Given the description of an element on the screen output the (x, y) to click on. 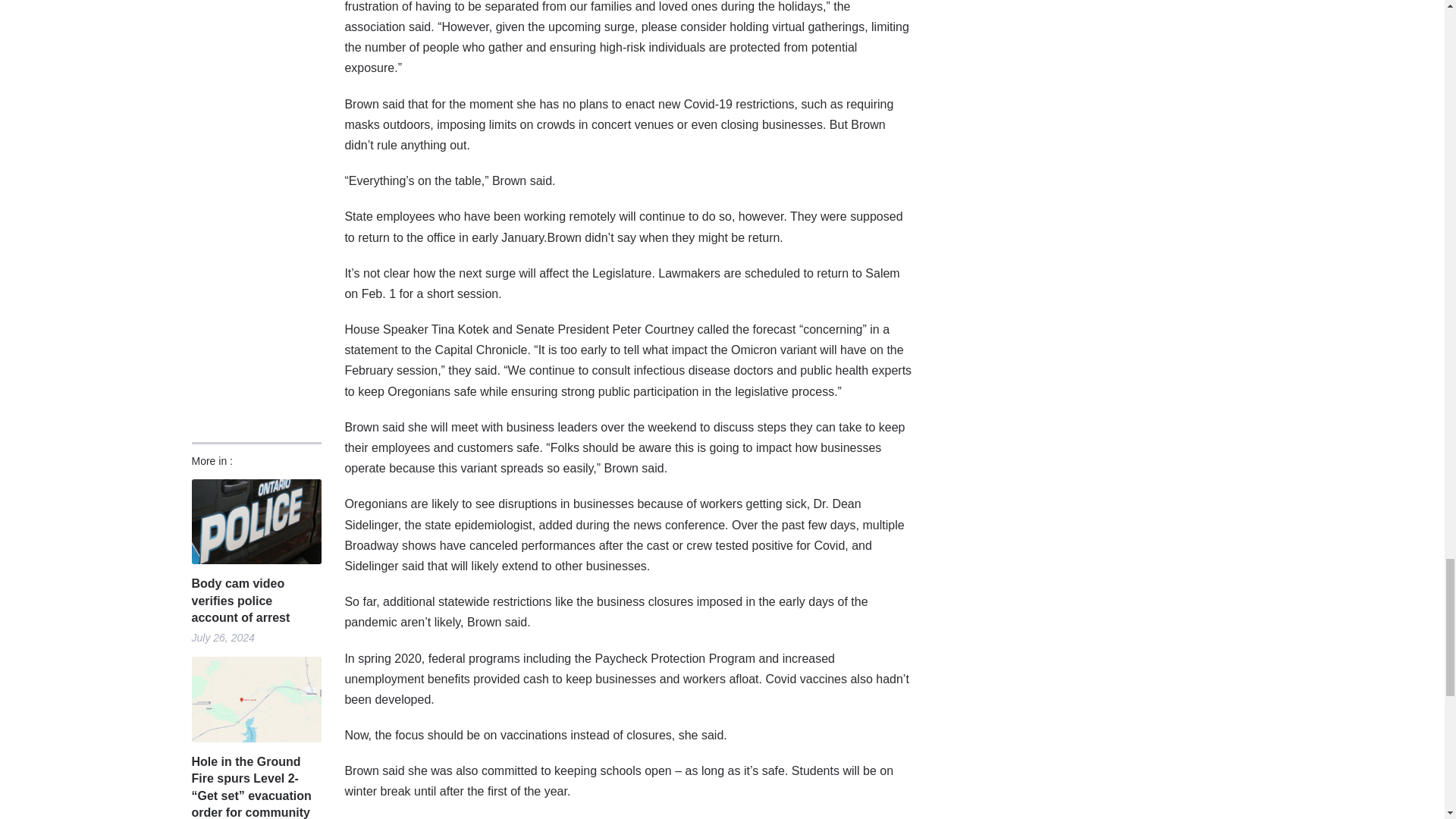
Body cam video verifies police account of arrest (255, 600)
